Given the description of an element on the screen output the (x, y) to click on. 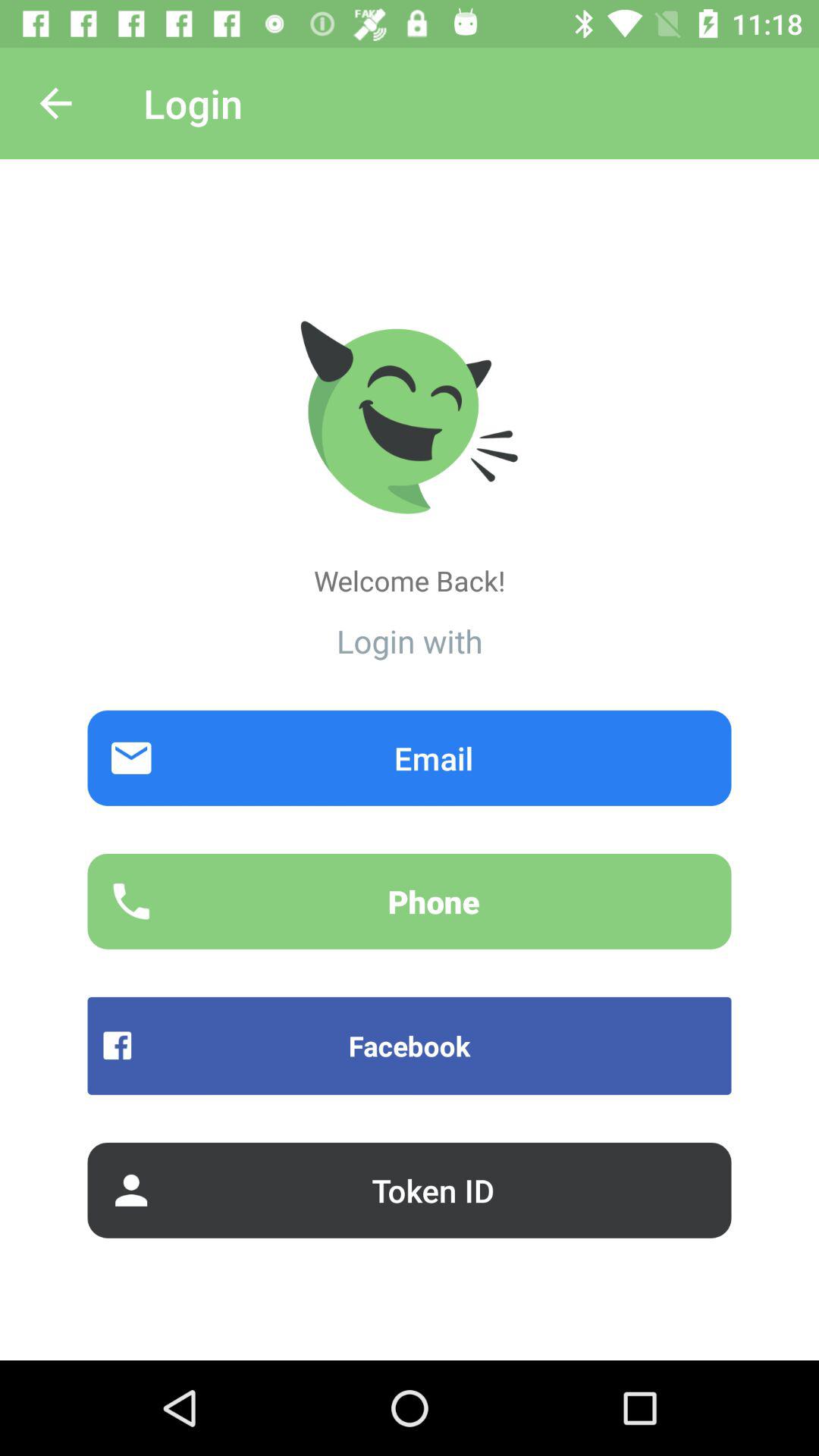
select the item to the left of the login icon (55, 103)
